Given the description of an element on the screen output the (x, y) to click on. 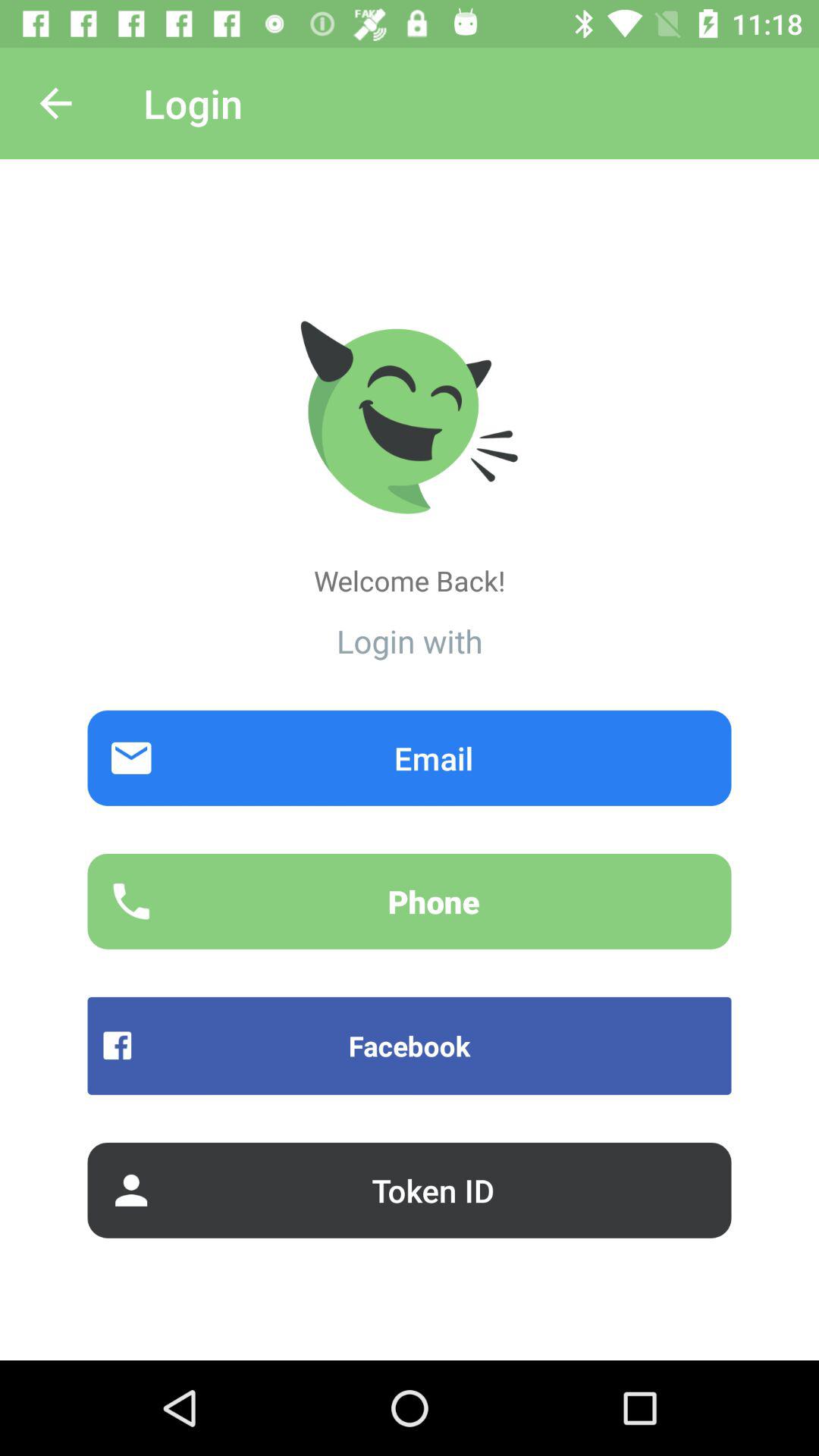
launch the phone (409, 901)
